Given the description of an element on the screen output the (x, y) to click on. 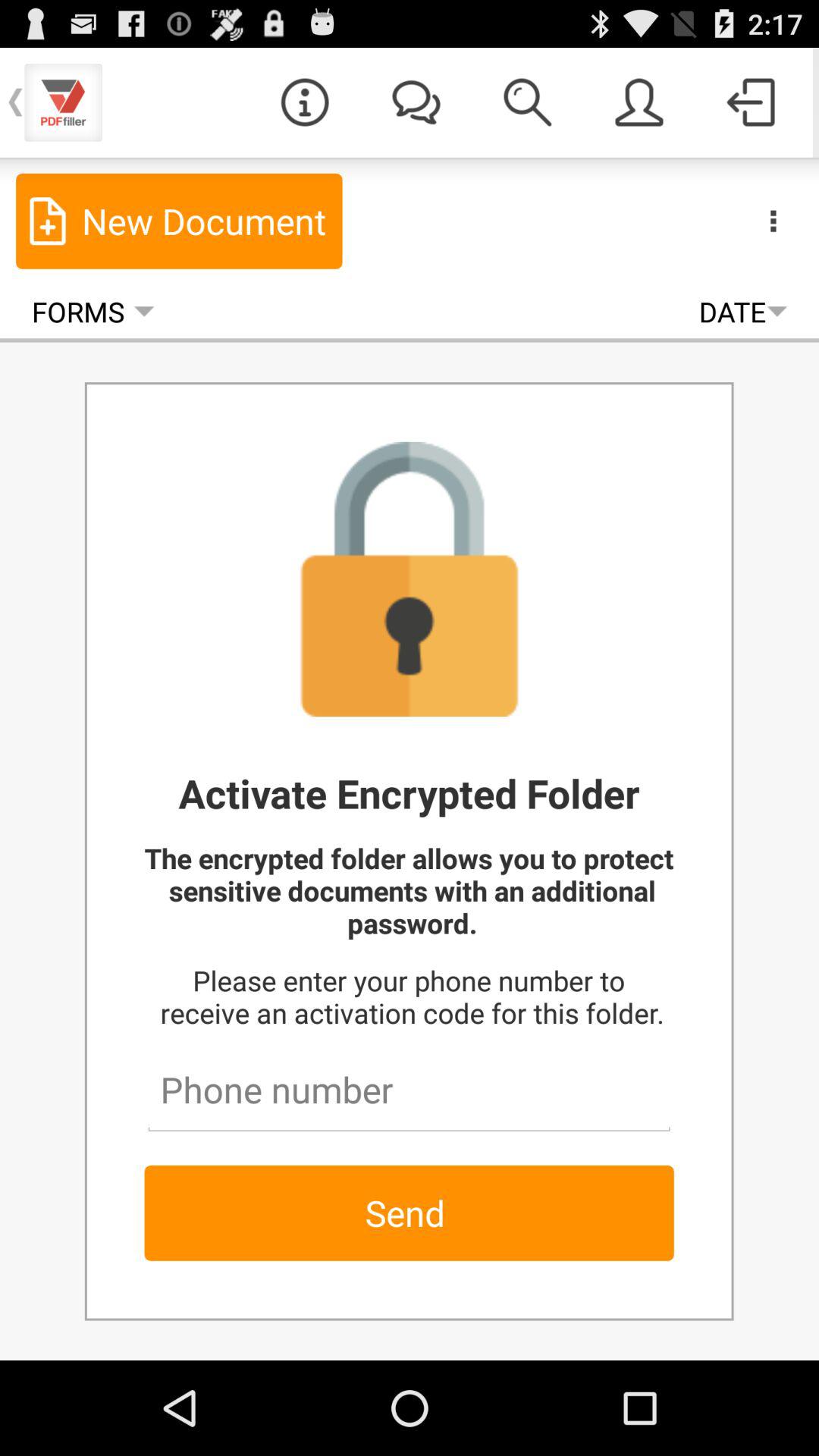
swipe until new document item (178, 221)
